Given the description of an element on the screen output the (x, y) to click on. 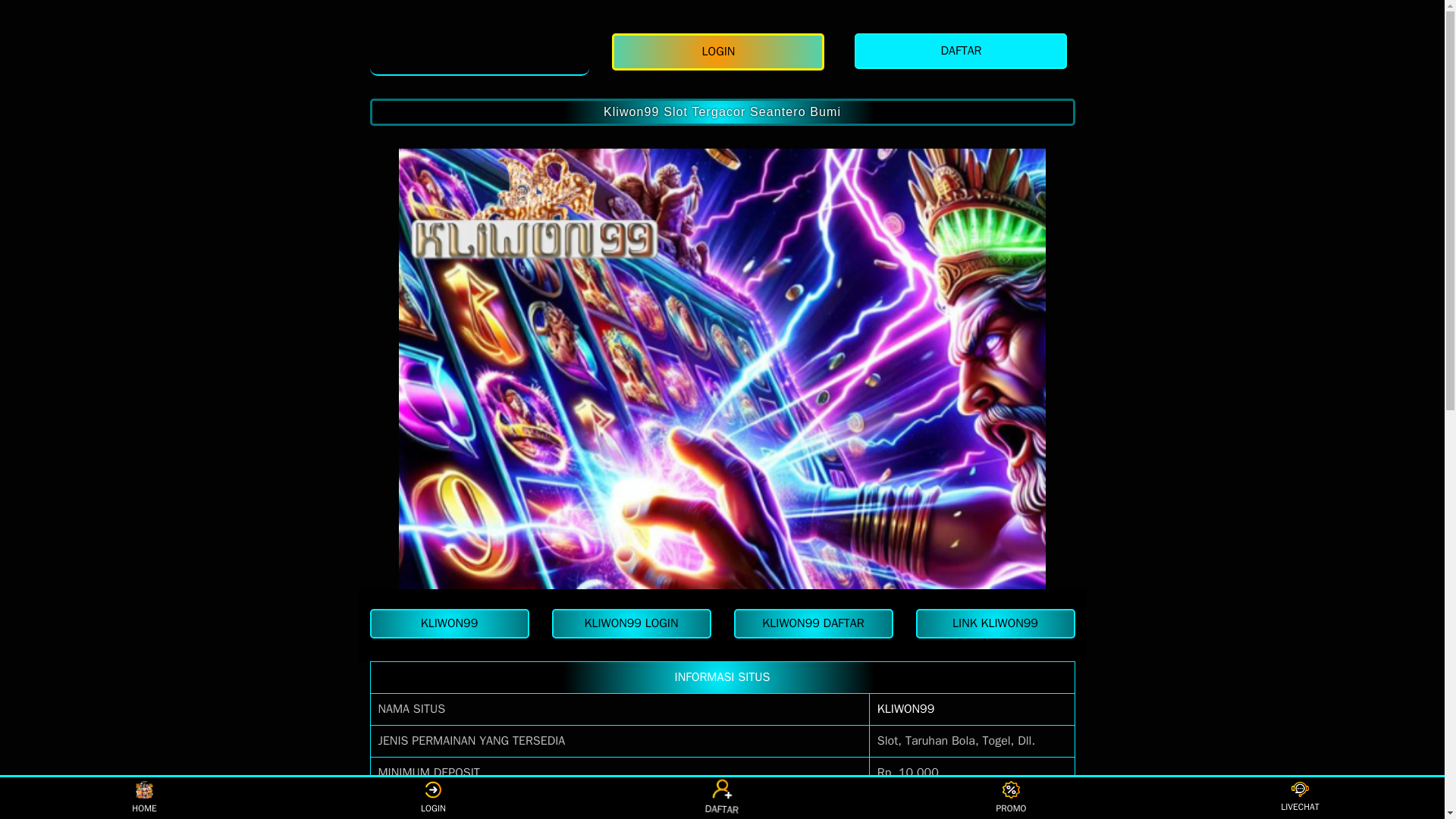
LINK KLIWON99 (995, 623)
KLIWON99 LOGIN (631, 623)
KLIWON99 (905, 708)
KLIWON99 (905, 708)
LOGIN (432, 797)
HOME (144, 797)
Kliwon99 Slot Tergacor Seantero Bumi (722, 111)
KLIWON99 DAFTAR (813, 623)
DAFTAR (719, 795)
PROMO (1010, 797)
KLIWON99 LOGIN (631, 623)
KLIWON99 (449, 623)
Kliwon99 Slot Tergacor Seantero Bumi (722, 112)
LOGIN (721, 51)
